Given the description of an element on the screen output the (x, y) to click on. 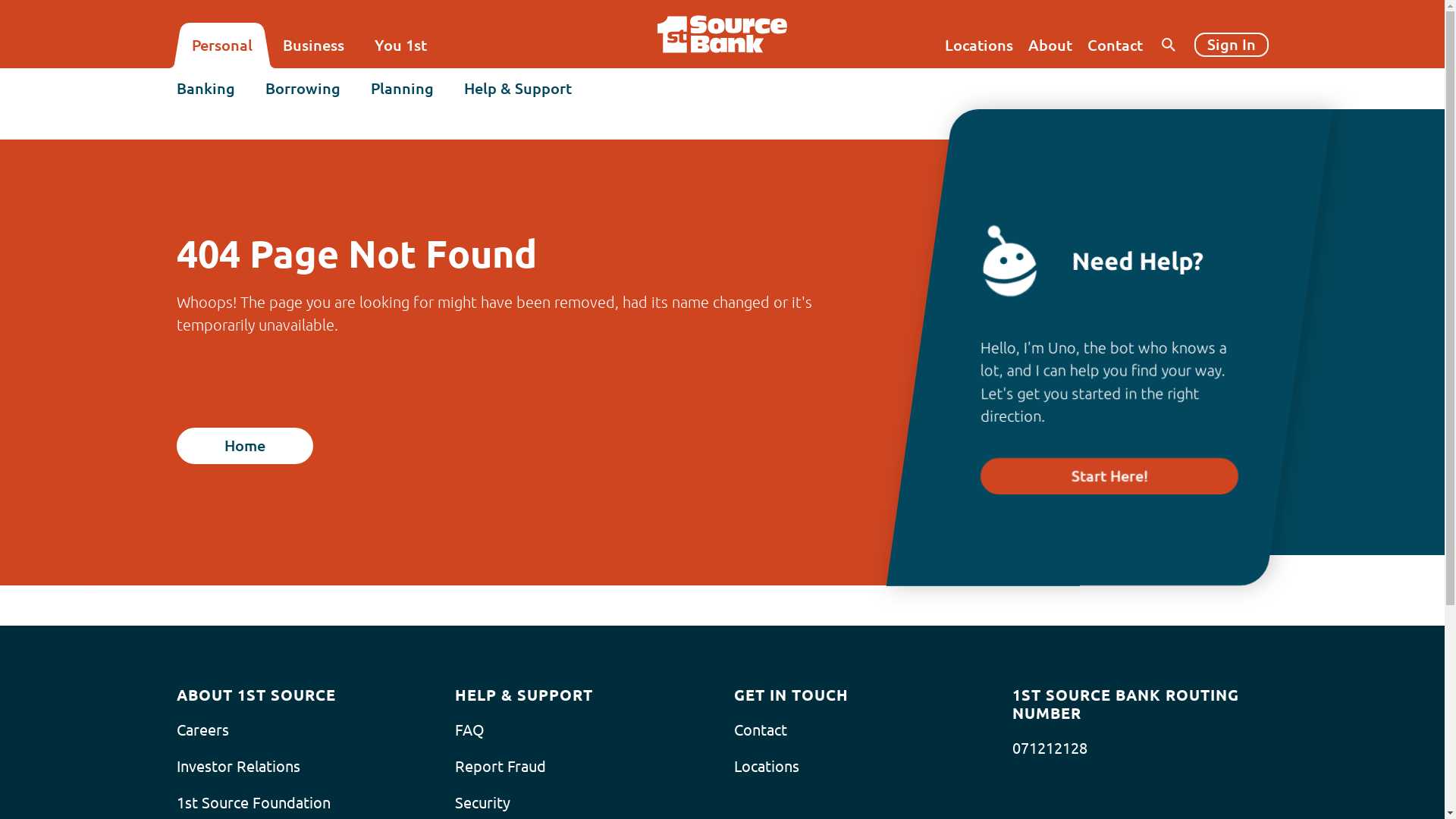
Locations Element type: text (978, 45)
Careers Element type: text (201, 729)
Help & Support Element type: text (517, 88)
Report Fraud Element type: text (500, 766)
Planning Element type: text (401, 88)
Borrowing Element type: text (302, 88)
About Element type: text (1049, 45)
Investor Relations Element type: text (237, 766)
1ST SOURCE BANK ROUTING NUMBER Element type: text (1140, 704)
Sign In Element type: text (1230, 44)
Personal Element type: text (220, 45)
1st Source Foundation Element type: text (252, 802)
Locations Element type: text (766, 766)
HELP & SUPPORT Element type: text (524, 695)
Contact Element type: text (760, 729)
GET IN TOUCH Element type: text (791, 695)
071212128 Element type: text (1049, 748)
Search Element type: text (1243, 112)
Business Element type: text (312, 45)
Start Here! Element type: text (1108, 476)
Home Element type: text (243, 445)
Security Element type: text (482, 802)
1st Source Element type: text (721, 34)
ABOUT 1ST SOURCE Element type: text (255, 695)
FAQ Element type: text (469, 729)
You 1st Element type: text (400, 45)
Contact Element type: text (1114, 45)
Banking Element type: text (204, 88)
